Given the description of an element on the screen output the (x, y) to click on. 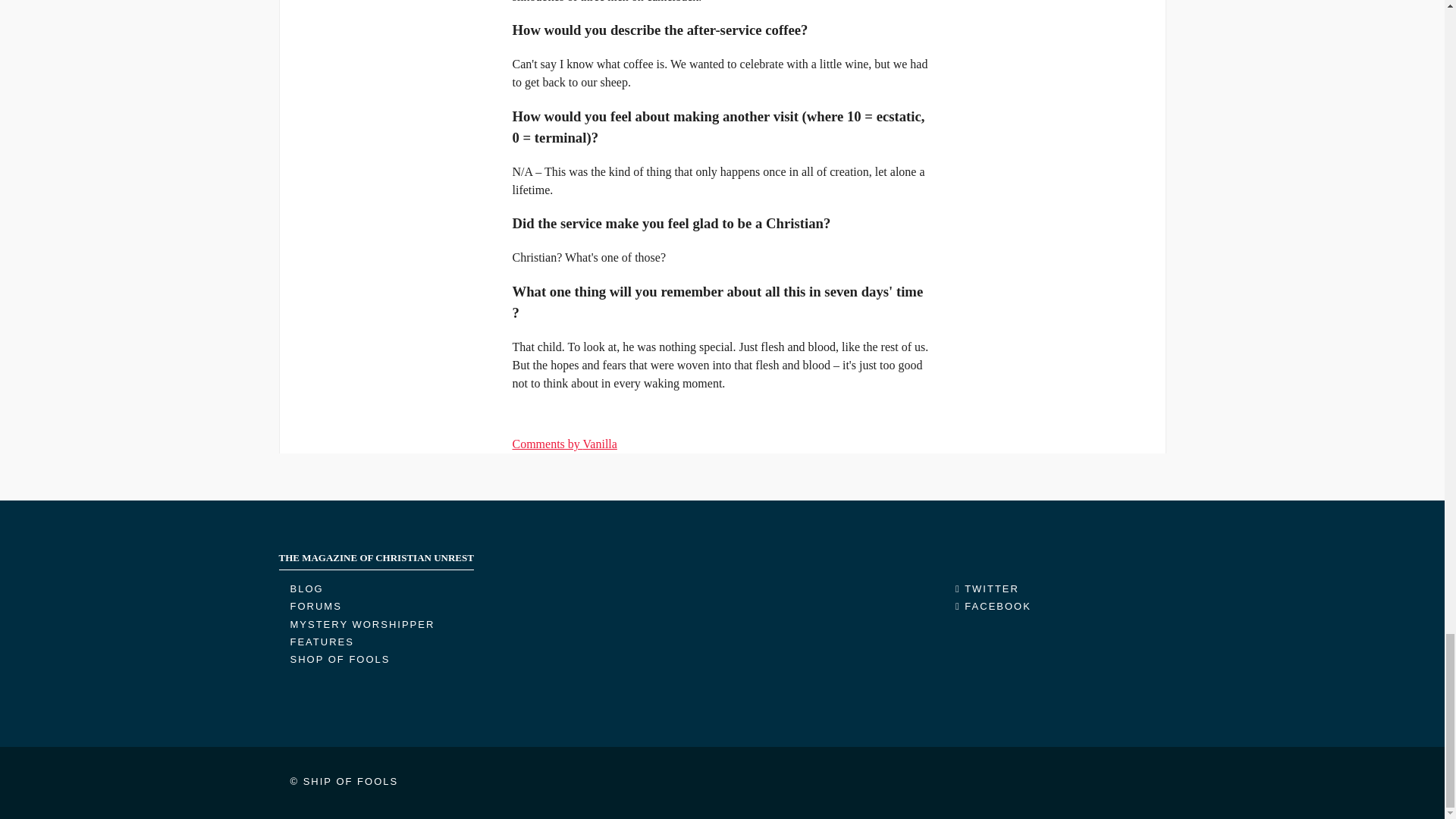
FEATURES (321, 641)
Comments by Vanilla (564, 443)
BLOG (306, 588)
FORUMS (314, 605)
TWITTER (987, 588)
FACEBOOK (992, 605)
SHOP OF FOOLS (339, 659)
MYSTERY WORSHIPPER (361, 624)
